Given the description of an element on the screen output the (x, y) to click on. 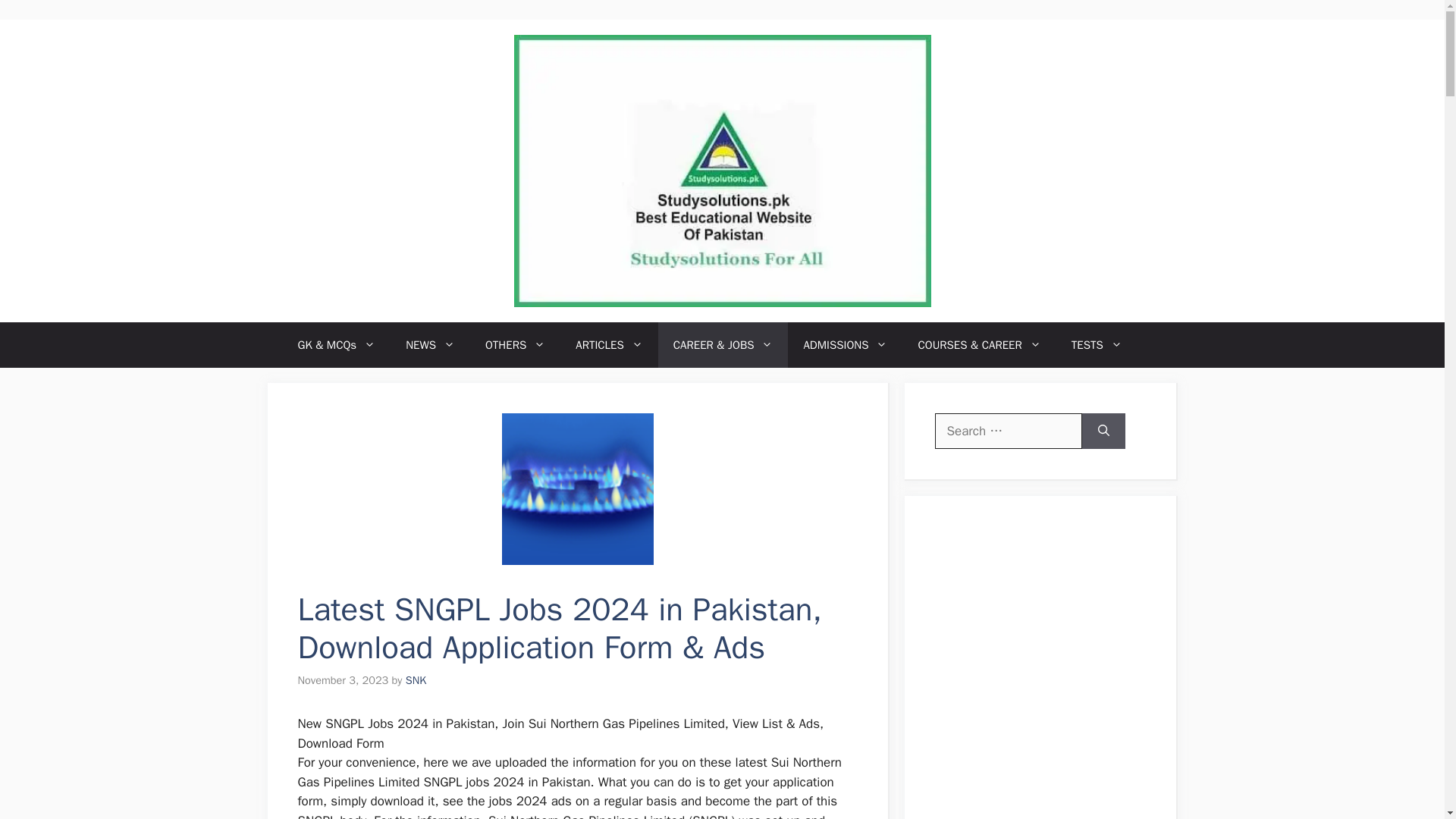
NEWS (430, 344)
ARTICLES (609, 344)
ADMISSIONS (844, 344)
View all posts by SNK (416, 680)
OTHERS (515, 344)
